Given the description of an element on the screen output the (x, y) to click on. 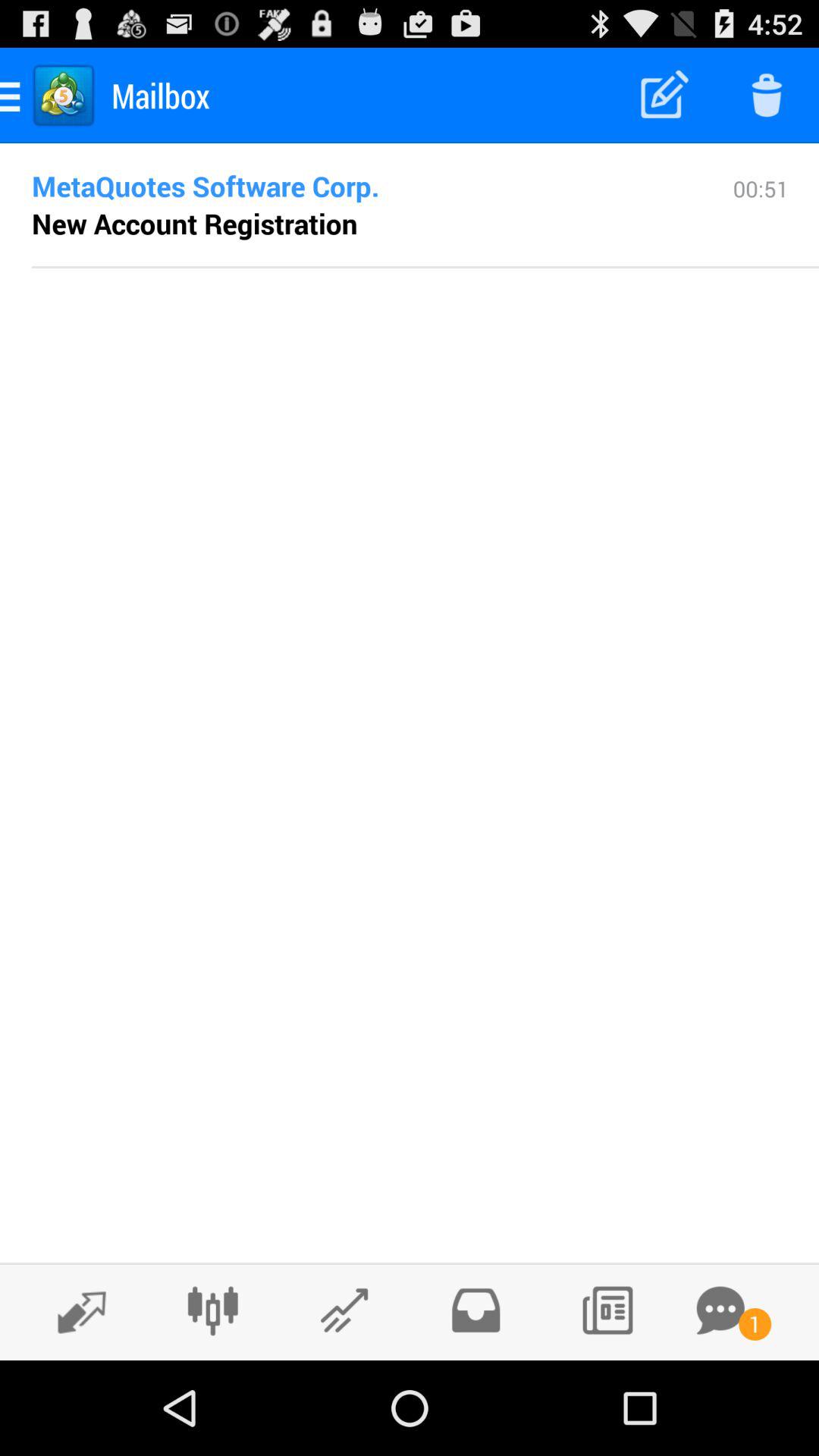
attach your file option (344, 1310)
